Given the description of an element on the screen output the (x, y) to click on. 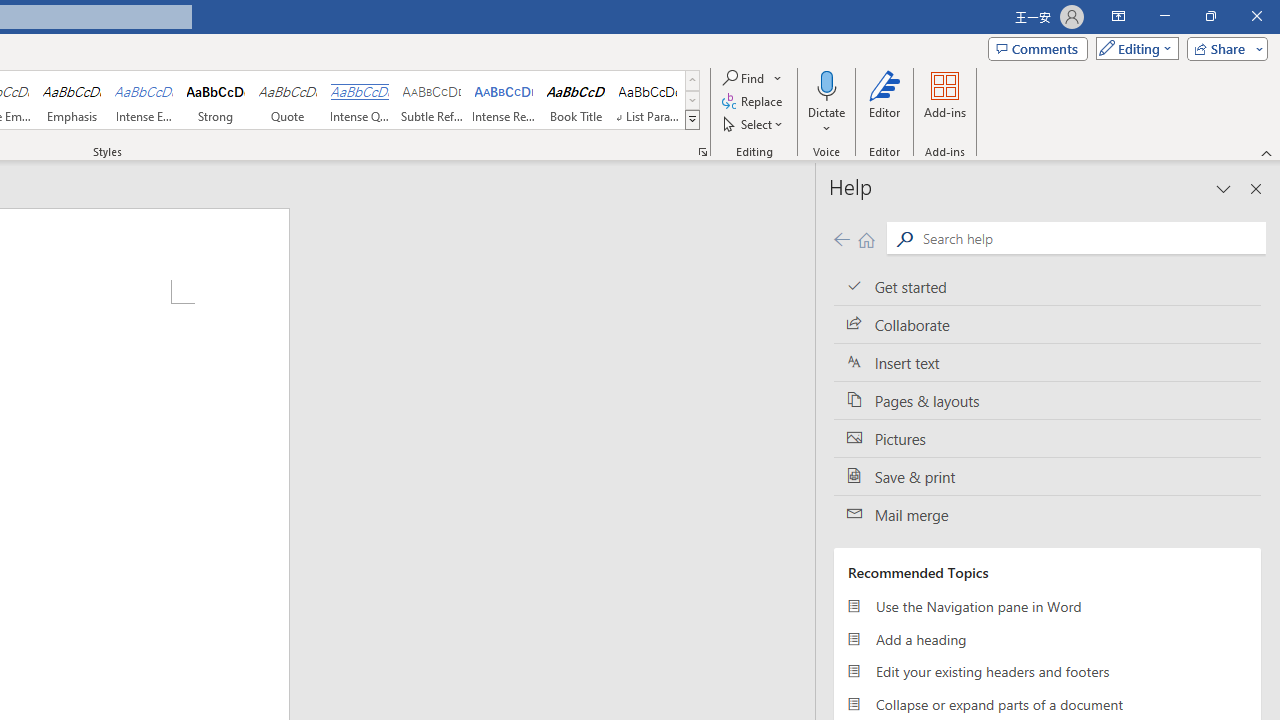
Collapse the Ribbon (1267, 152)
Select (754, 124)
Restore Down (1210, 16)
Row Down (692, 100)
Find (753, 78)
Search (1089, 237)
Insert text (1047, 363)
Find (744, 78)
Pages & layouts (1047, 400)
Ribbon Display Options (1118, 16)
More Options (826, 121)
Collapse or expand parts of a document (1047, 704)
Book Title (575, 100)
